Given the description of an element on the screen output the (x, y) to click on. 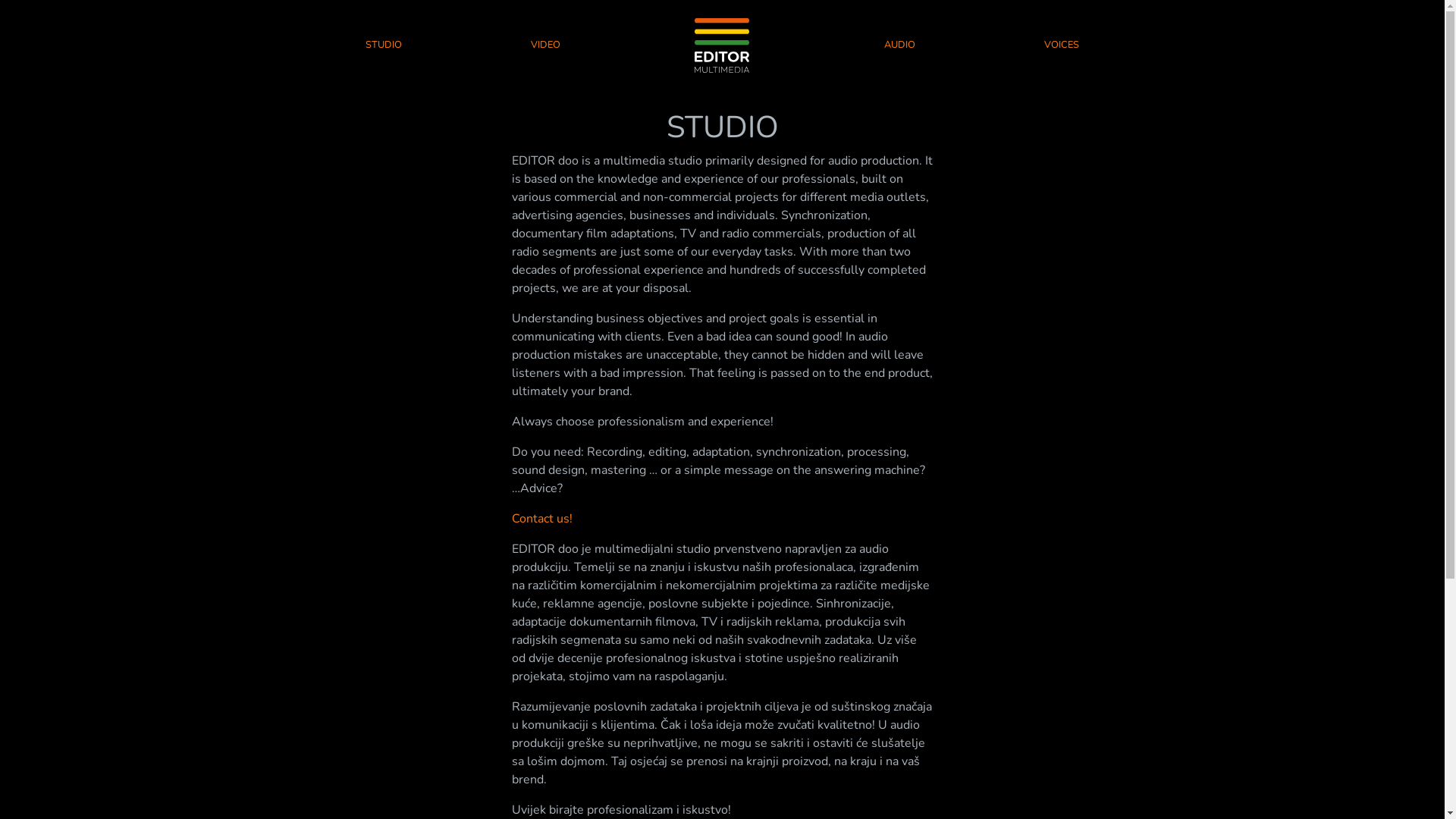
VOICES Element type: text (1061, 44)
STUDIO Element type: text (383, 44)
AUDIO Element type: text (899, 44)
Contact us! Element type: text (541, 518)
VIDEO Element type: text (545, 44)
